Given the description of an element on the screen output the (x, y) to click on. 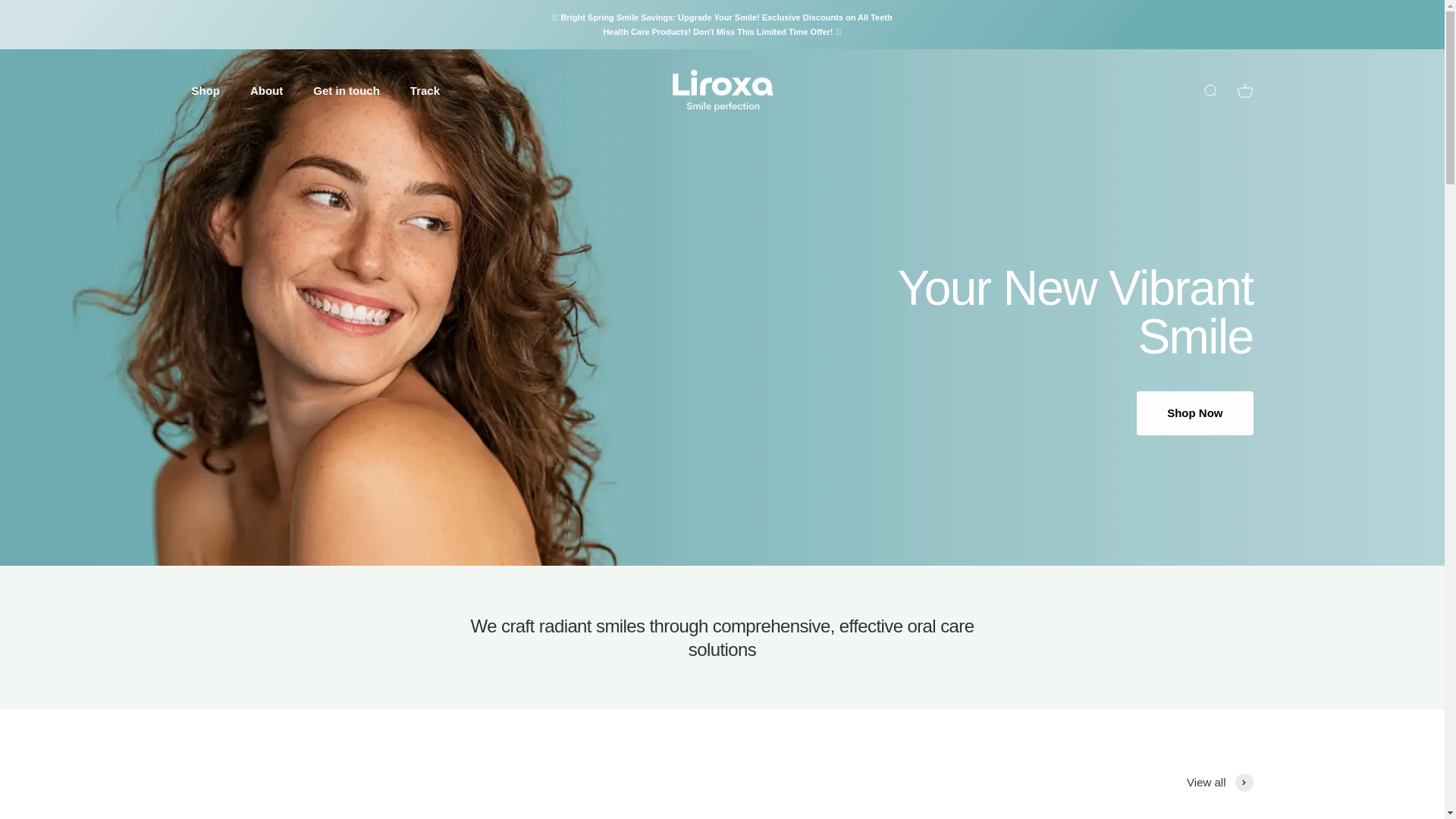
Open search (1209, 90)
Shop (204, 90)
View all (1219, 782)
Track (424, 90)
Shop Now (1194, 412)
About (266, 90)
Liroxa (721, 90)
Get in touch (1244, 90)
